Given the description of an element on the screen output the (x, y) to click on. 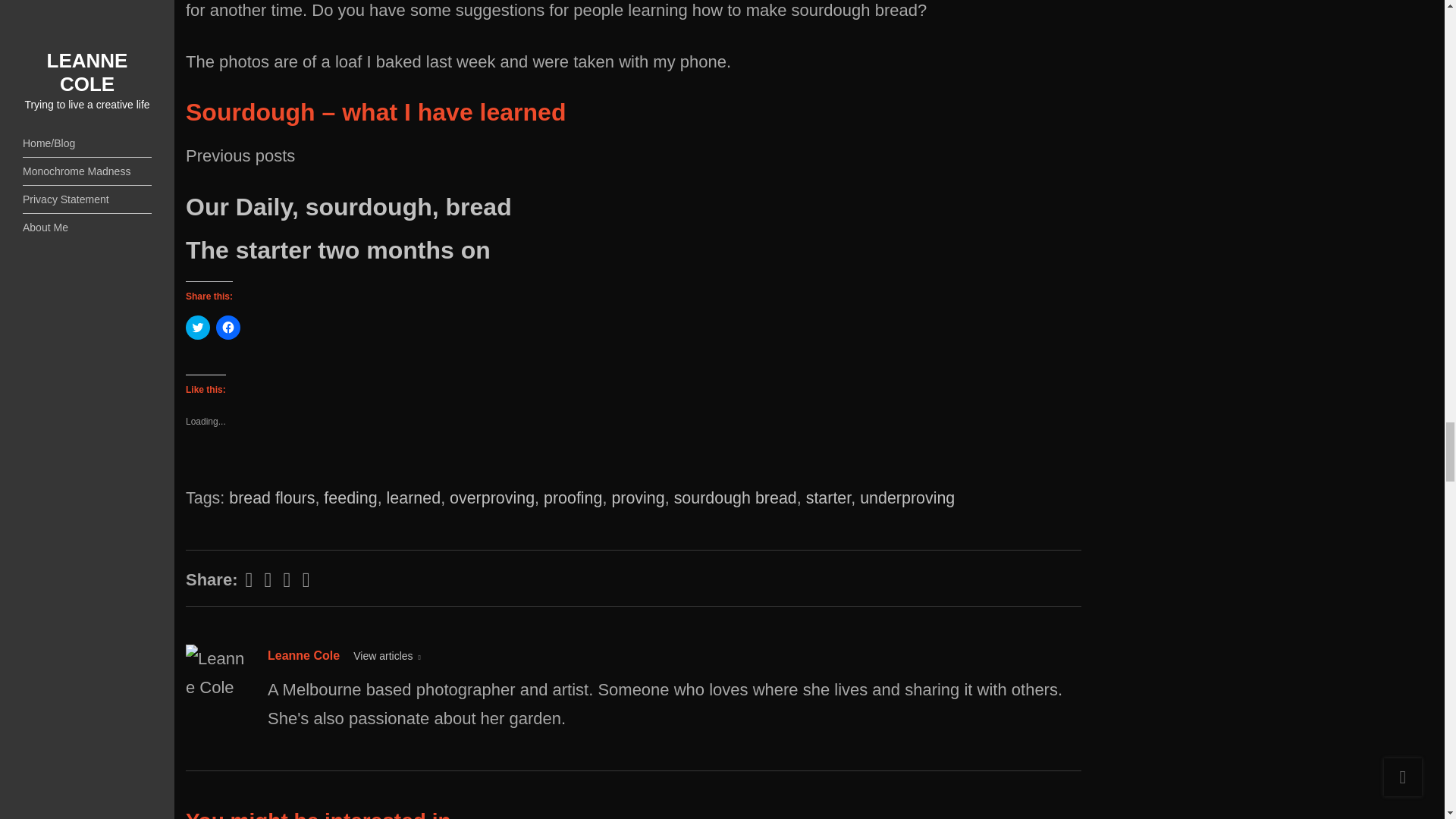
underproving (907, 497)
The starter two months on (338, 249)
overproving (491, 497)
starter (828, 497)
proving (637, 497)
proofing (572, 497)
feeding (350, 497)
Our Daily, sourdough, bread (349, 206)
Click to share on Facebook (227, 327)
sourdough bread (735, 497)
